Given the description of an element on the screen output the (x, y) to click on. 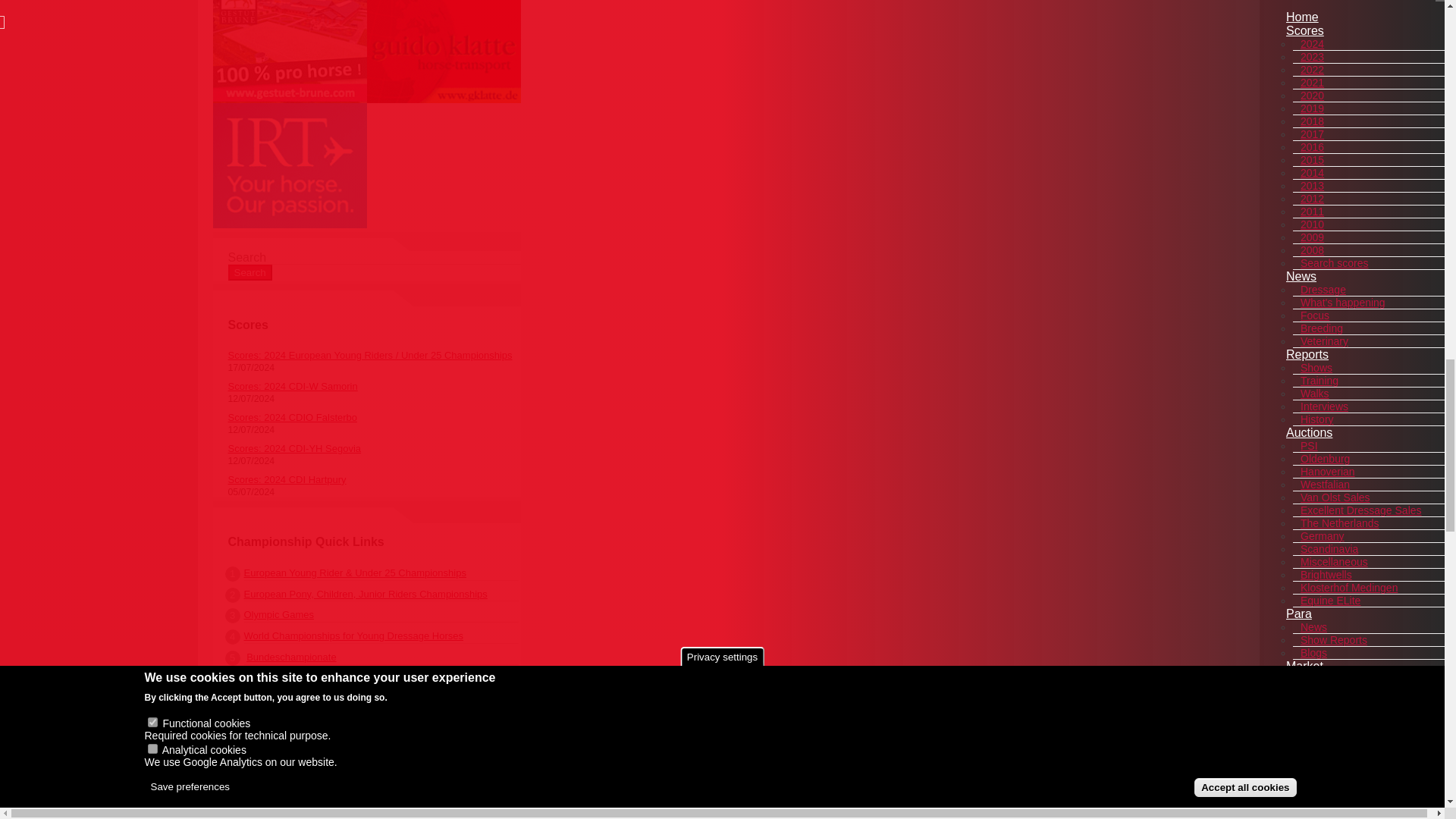
Enter the terms you wish to search for. (373, 257)
